Given the description of an element on the screen output the (x, y) to click on. 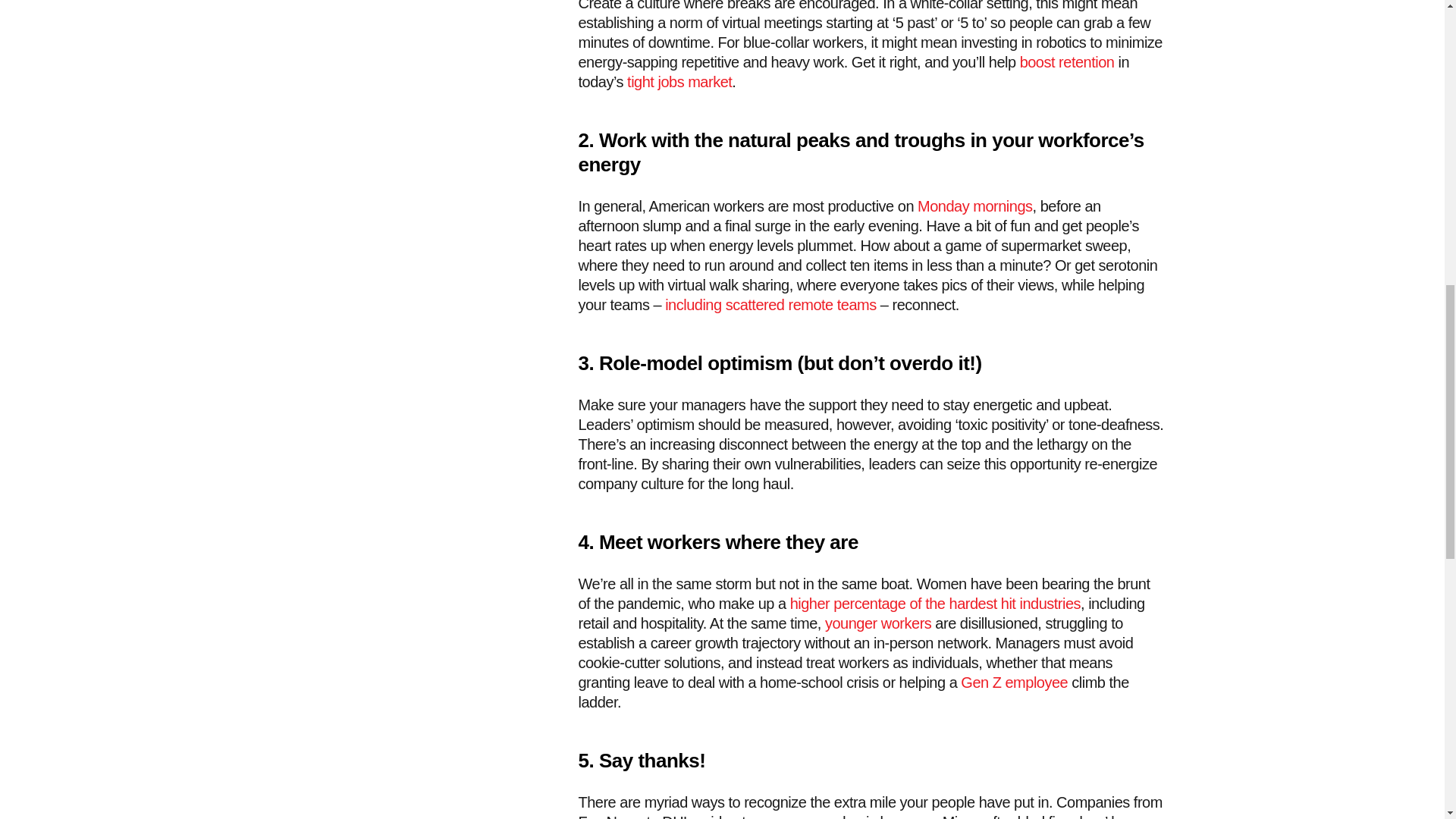
Monday mornings (974, 206)
higher percentage of the hardest hit industries (935, 603)
including scattered remote teams (770, 304)
younger workers (878, 623)
tight jobs market (679, 81)
Gen Z employee (1013, 682)
boost retention (1067, 62)
